Given the description of an element on the screen output the (x, y) to click on. 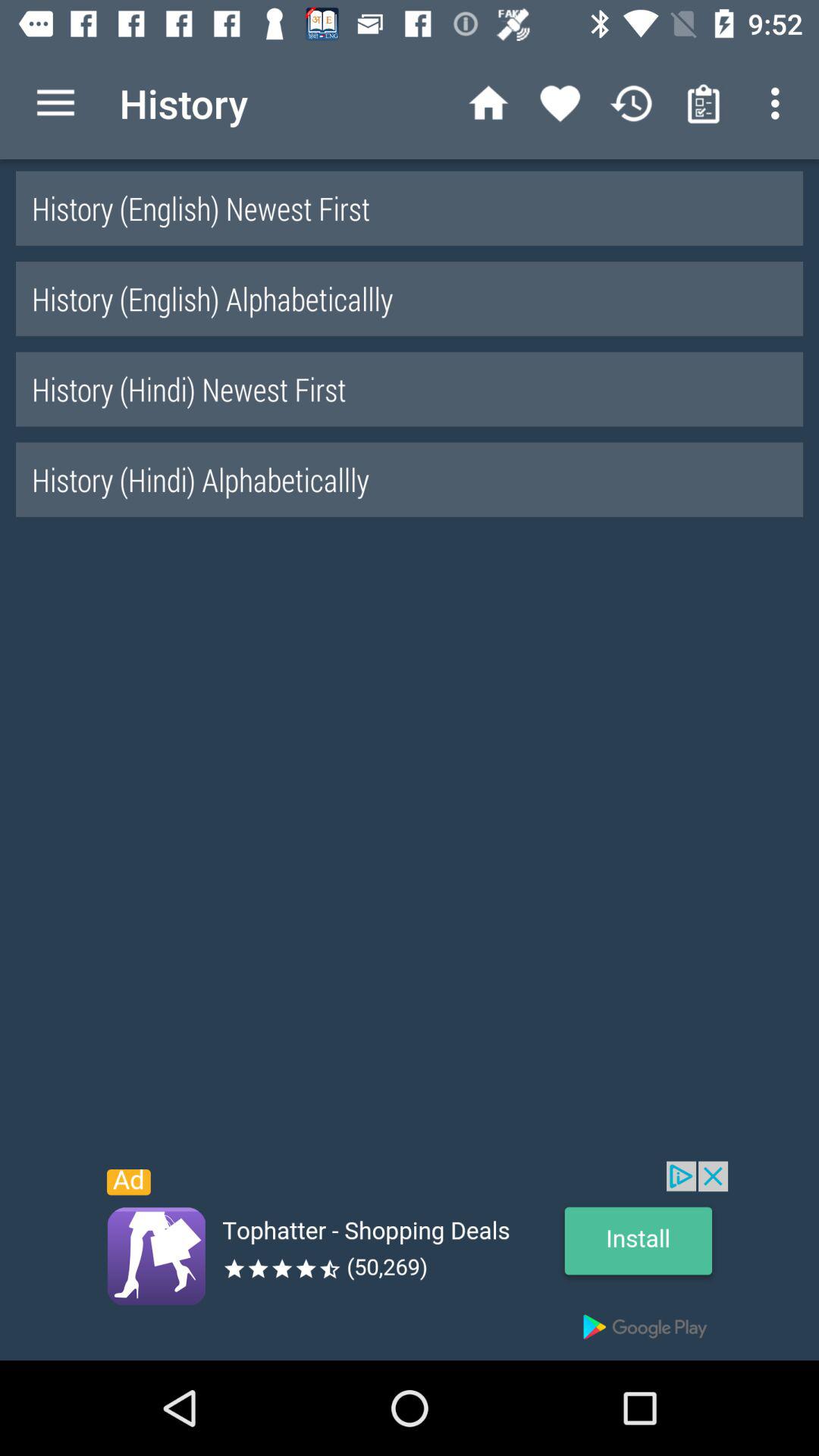
space where you access advertising (409, 1260)
